Given the description of an element on the screen output the (x, y) to click on. 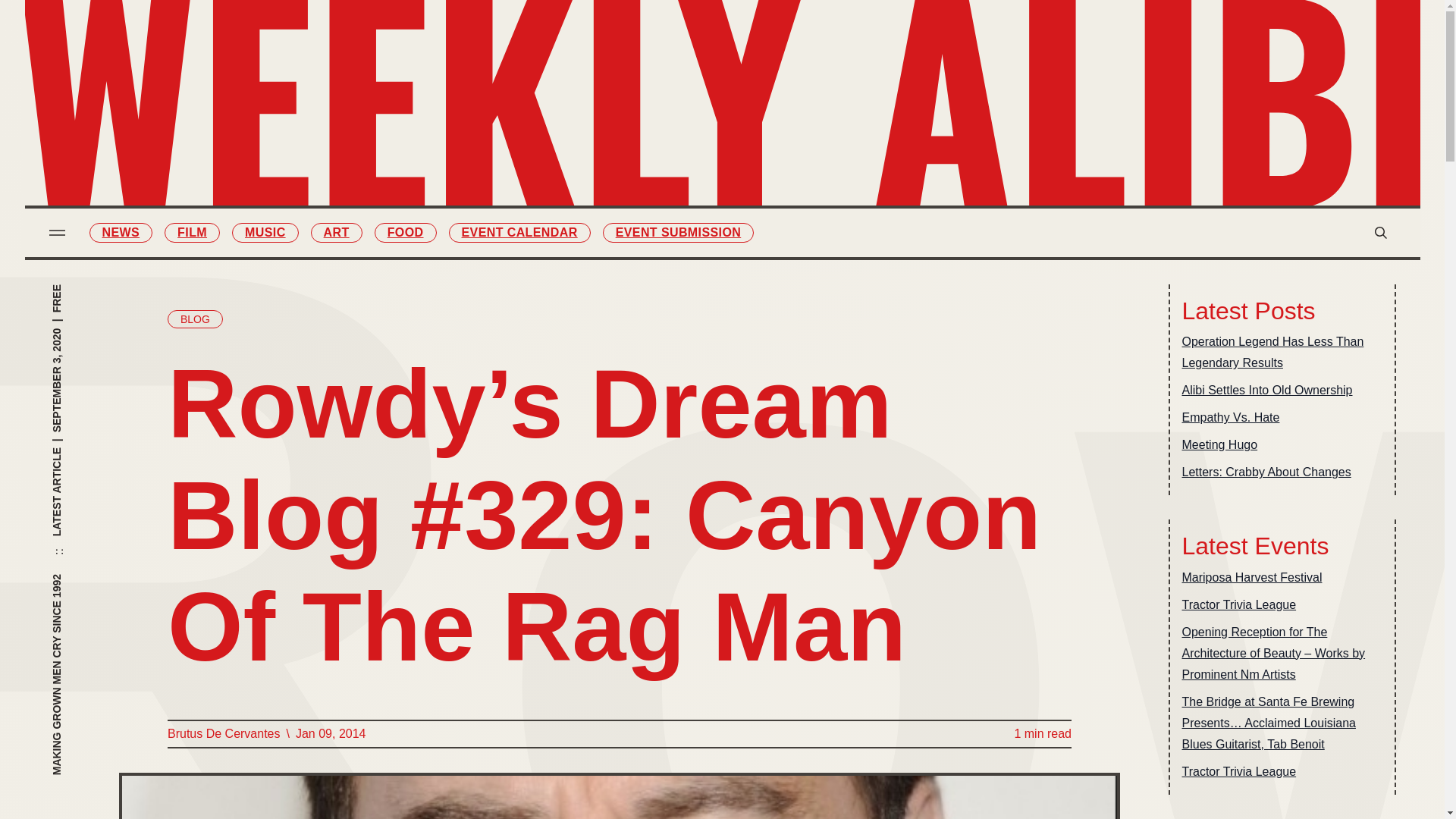
BOOK REVIEWS (803, 83)
ART (640, 147)
CANNABIS (640, 210)
EVENT CALENDAR (519, 232)
EVENT SUBMISSION (678, 232)
FILM (191, 232)
MUSIC (264, 232)
FOOD (405, 232)
MUSIC (640, 115)
NEWS (640, 51)
Brutus De Cervantes (223, 733)
BUSINESS (803, 115)
ART (336, 232)
FILM (640, 83)
NEWS (120, 232)
